Given the description of an element on the screen output the (x, y) to click on. 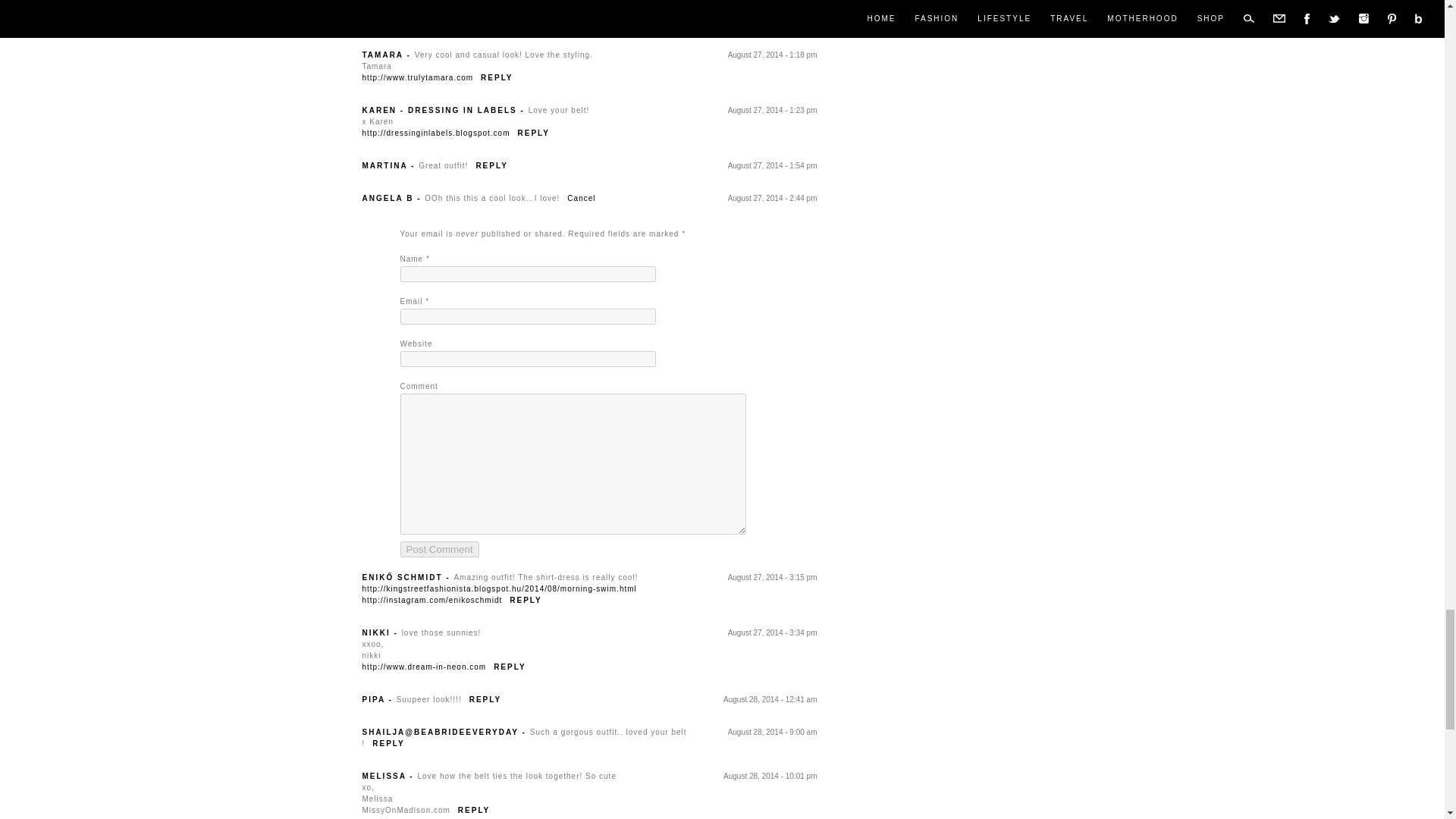
Post Comment (439, 549)
